Given the description of an element on the screen output the (x, y) to click on. 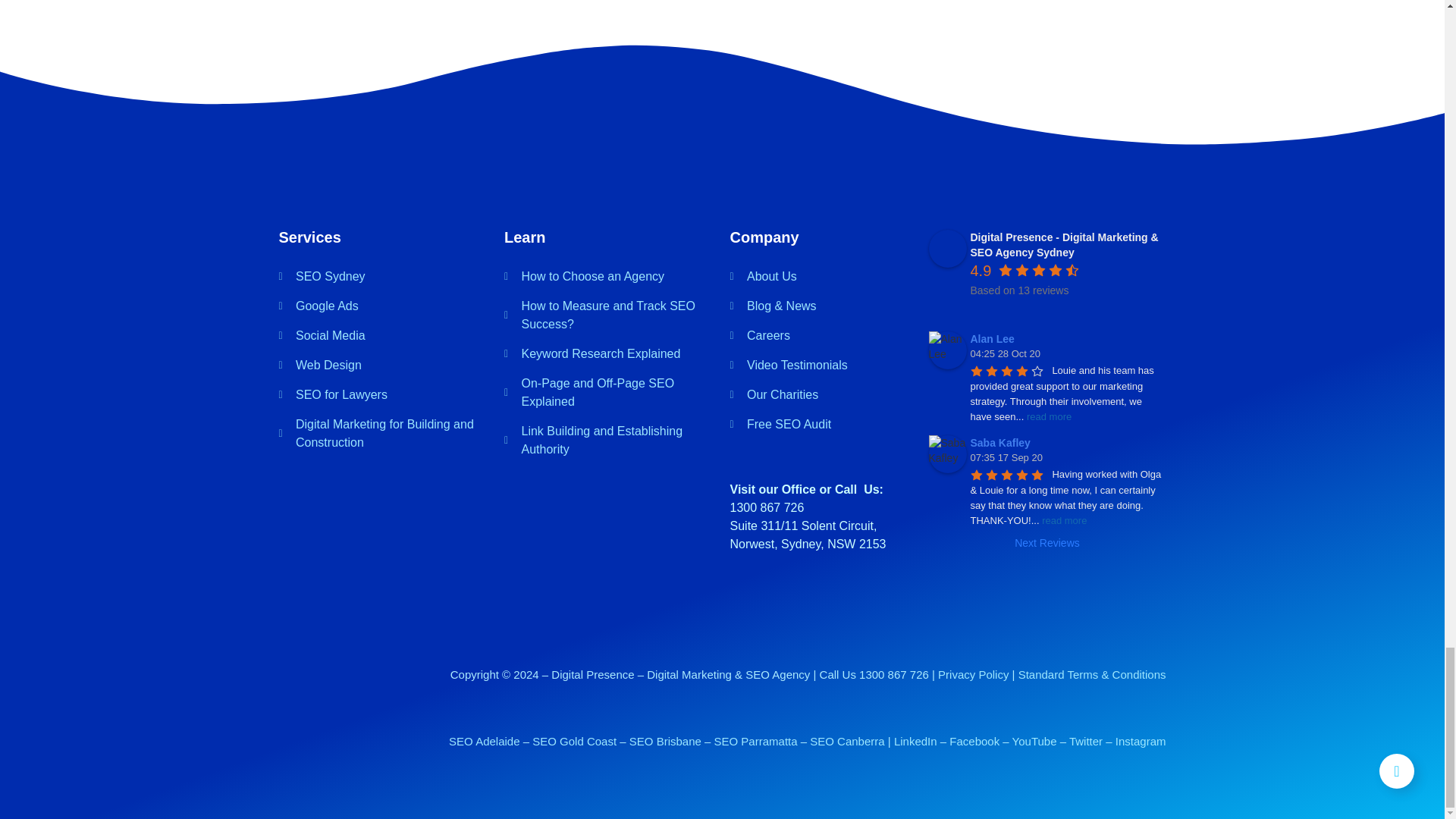
Saba Kafley (947, 453)
Alan Lee (947, 350)
powered by Google (1025, 309)
